Given the description of an element on the screen output the (x, y) to click on. 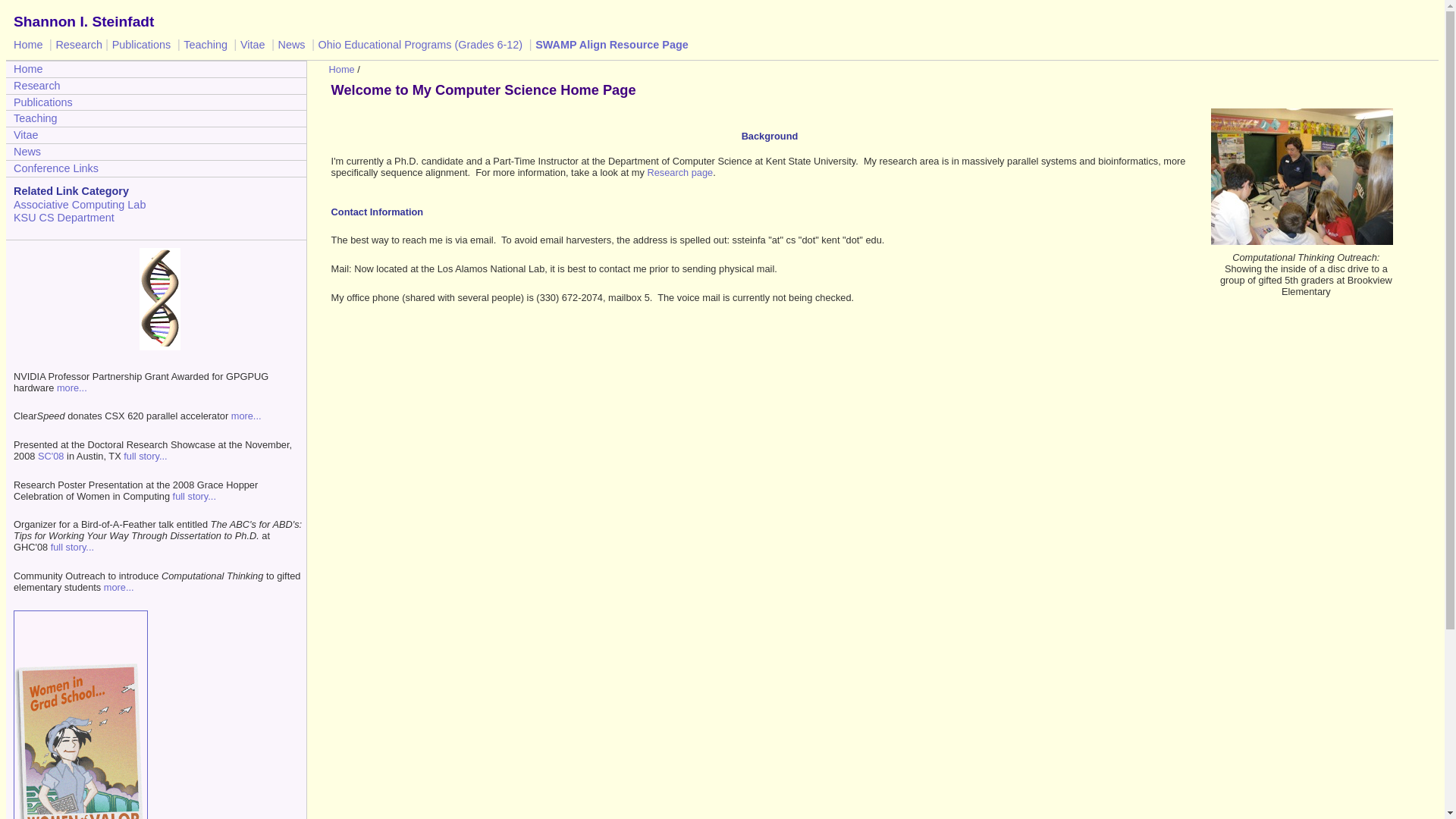
Teaching (155, 117)
Publications (143, 44)
Teaching (206, 44)
KSU CS Department (159, 217)
full story... (72, 546)
News (293, 44)
Home (342, 69)
Vitae (155, 134)
Home (29, 44)
Publications (155, 102)
